Given the description of an element on the screen output the (x, y) to click on. 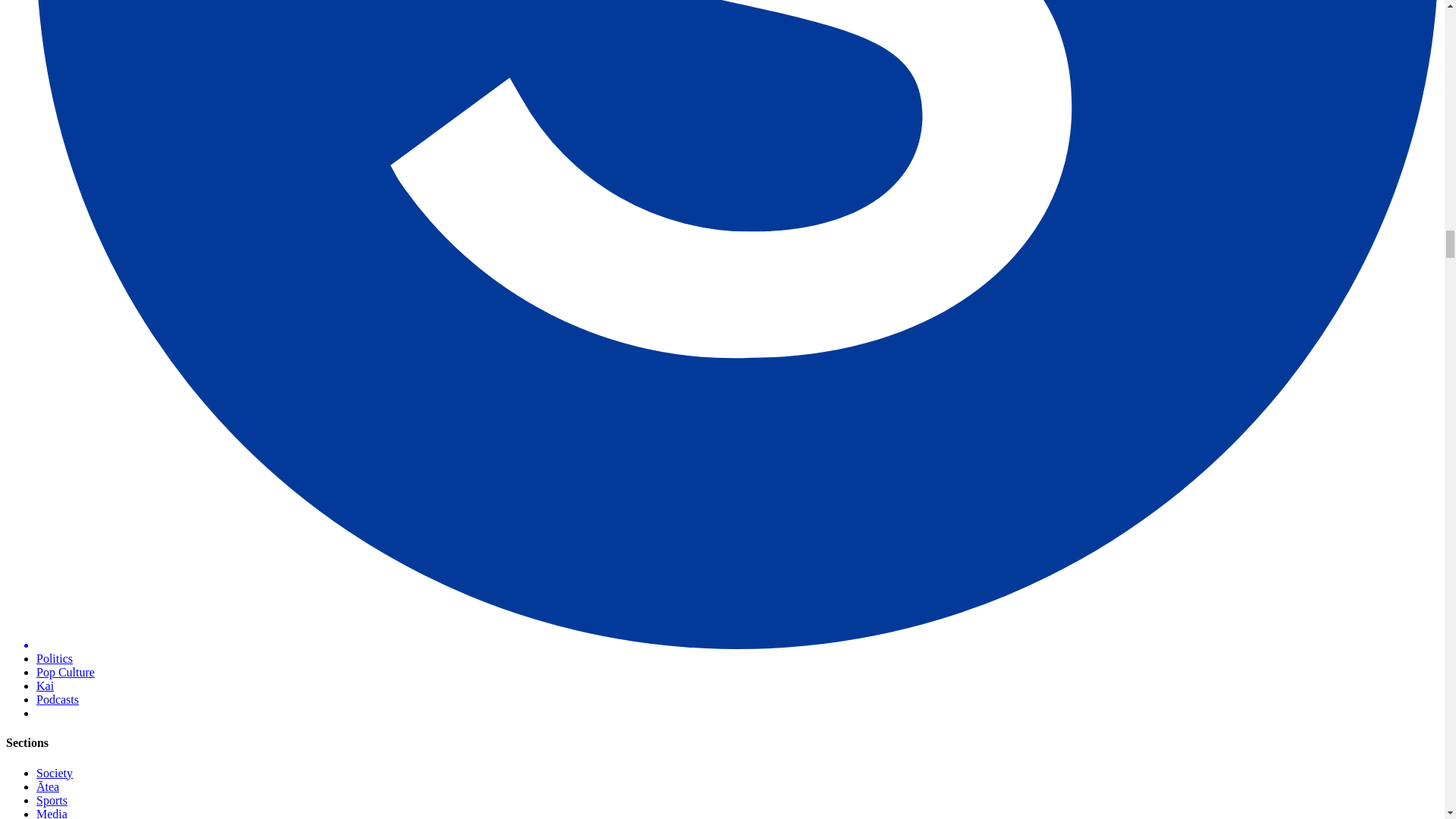
Kai (44, 685)
Society (54, 772)
Sports (51, 799)
Podcasts (57, 698)
Politics (54, 658)
Media (51, 813)
Pop Culture (65, 671)
